Given the description of an element on the screen output the (x, y) to click on. 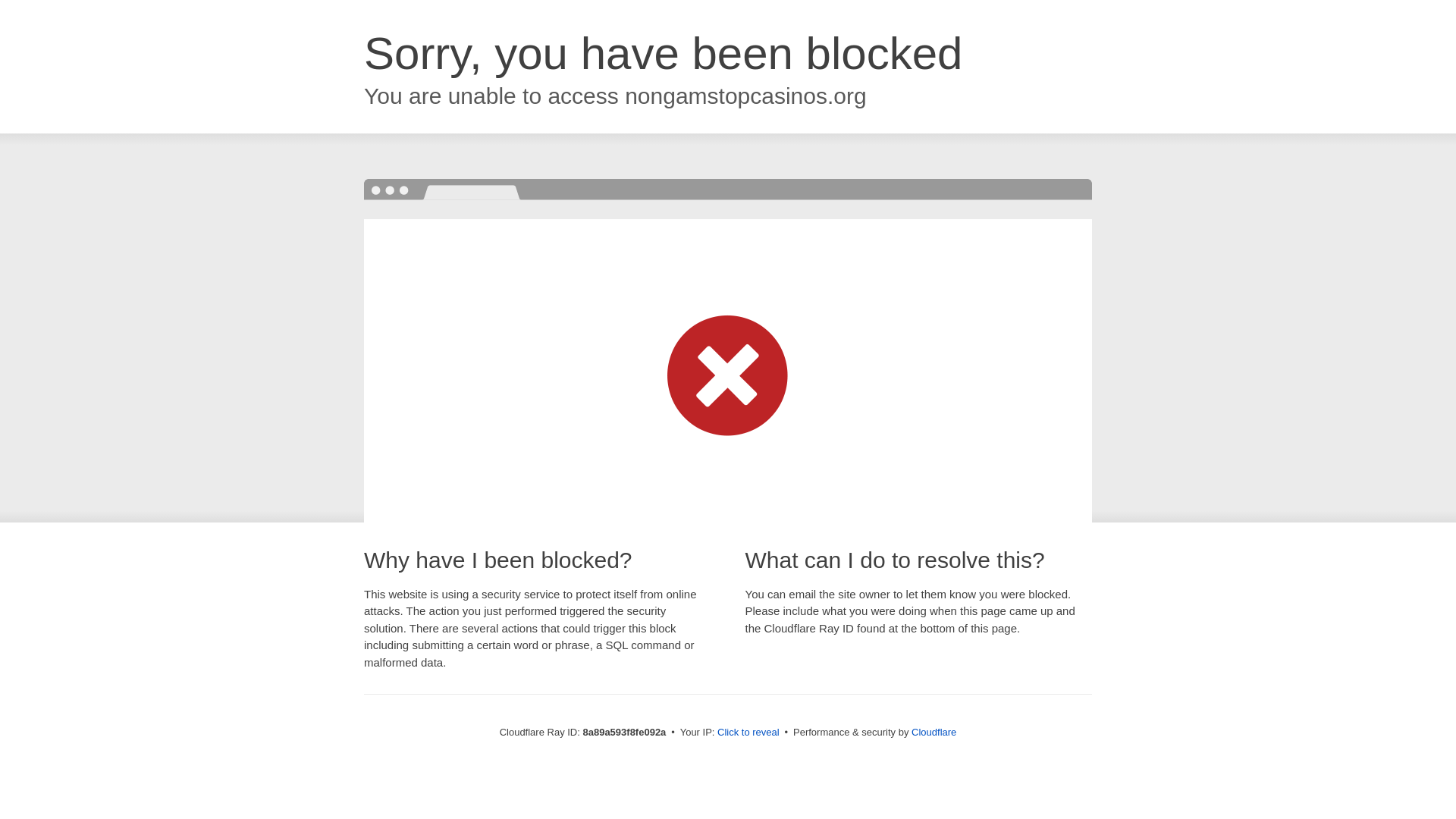
Click to reveal (747, 732)
Cloudflare (933, 731)
